Given the description of an element on the screen output the (x, y) to click on. 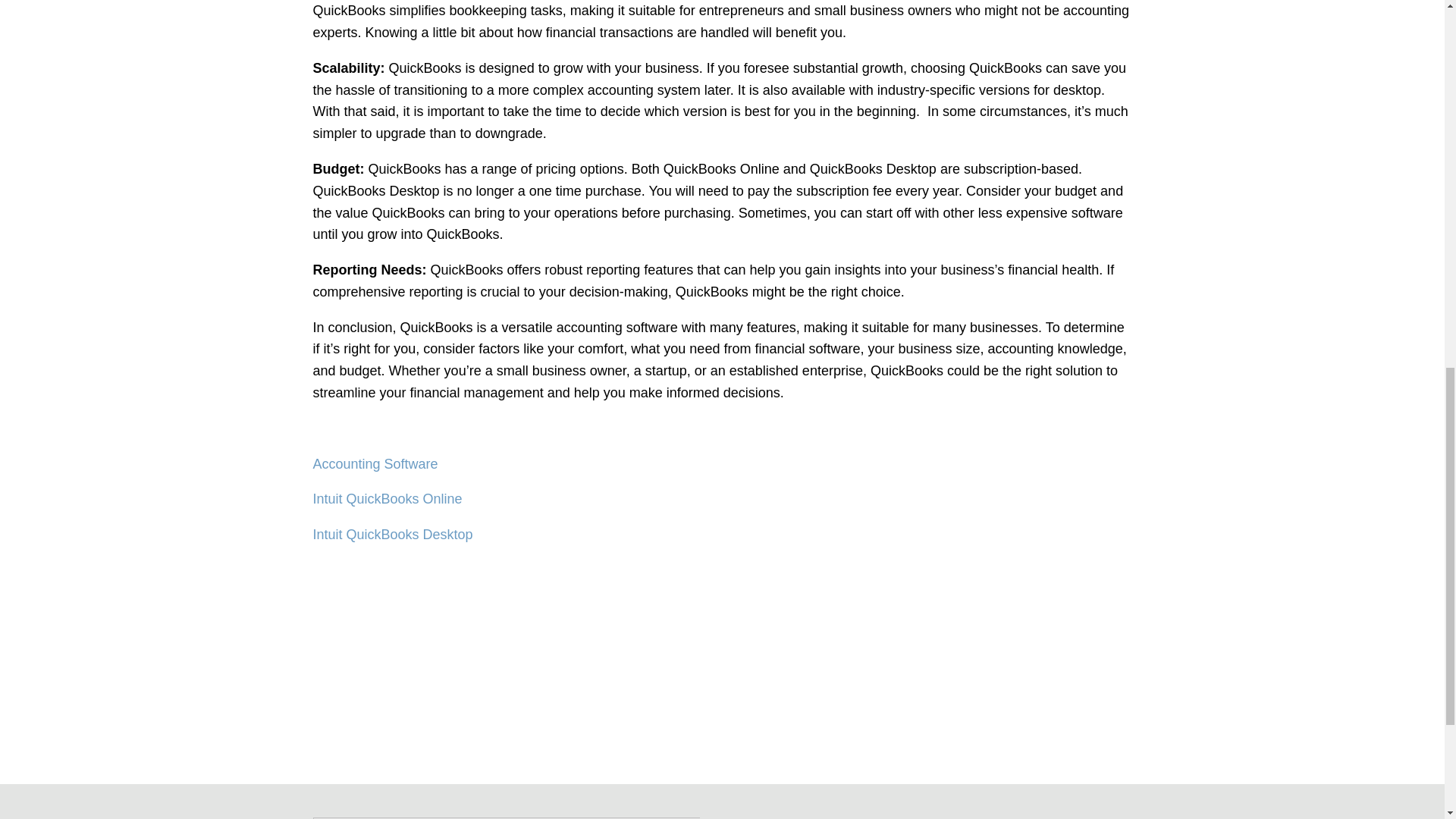
Intuit QuickBooks Desktop (392, 534)
Accounting Software  (377, 463)
Intuit QuickBooks Online (387, 498)
